Given the description of an element on the screen output the (x, y) to click on. 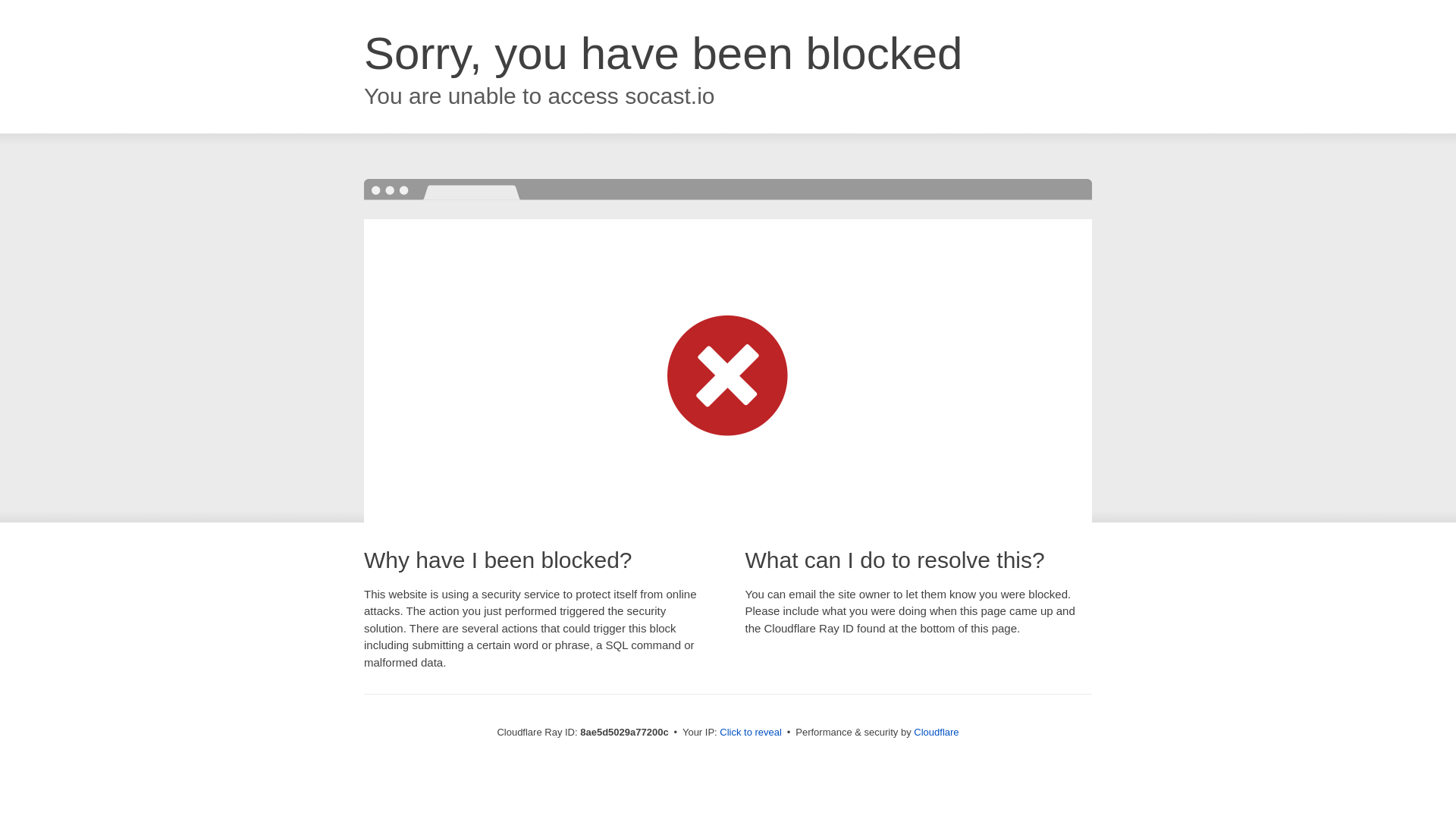
Click to reveal (750, 732)
Cloudflare (936, 731)
